Given the description of an element on the screen output the (x, y) to click on. 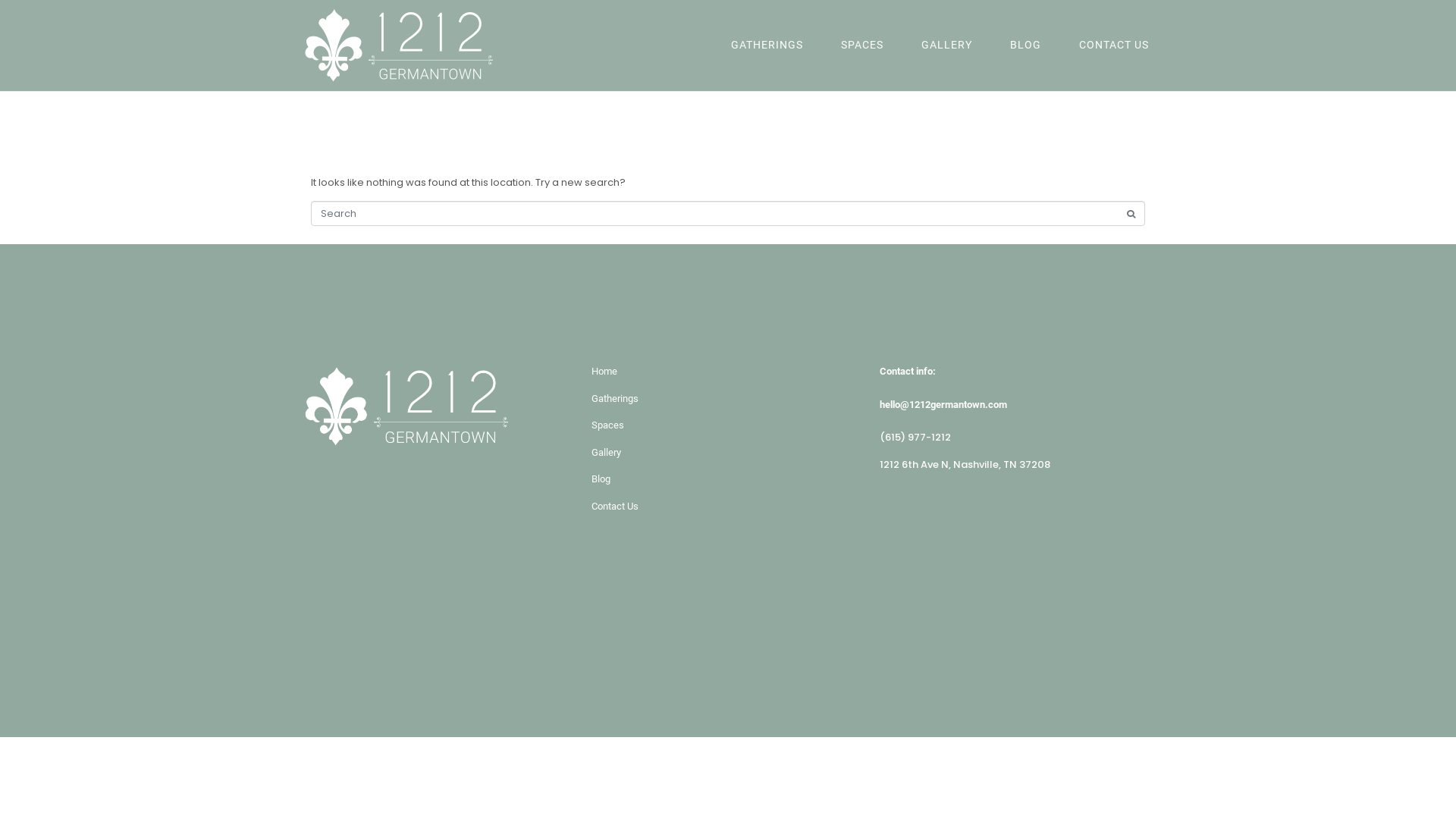
GATHERINGS Element type: text (766, 45)
Gatherings Element type: text (727, 398)
Contact Us Element type: text (727, 506)
1212 6th Ave N, Nashville, TN 37208 Element type: text (964, 464)
(615) 977-1212 Element type: text (914, 436)
hello@1212germantown.com Element type: text (1015, 404)
GALLERY Element type: text (946, 45)
CONTACT US Element type: text (1113, 45)
Gallery Element type: text (727, 452)
Spaces Element type: text (727, 425)
Blog Element type: text (727, 479)
1212 6th Ave N, Nashville, TN 37208 Element type: hover (1015, 556)
Home Element type: text (727, 371)
SPACES Element type: text (862, 45)
BLOG Element type: text (1025, 45)
